Given the description of an element on the screen output the (x, y) to click on. 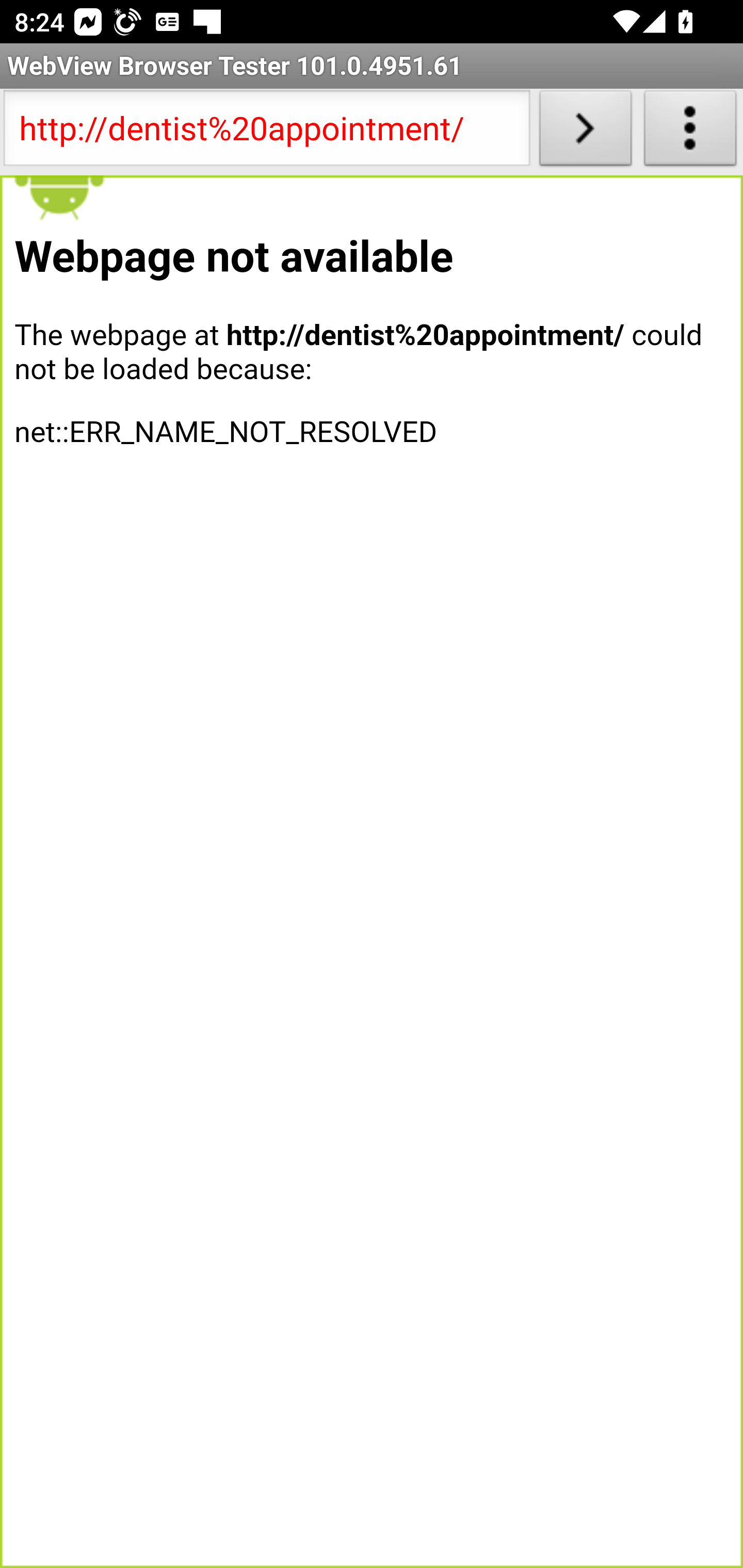
http://dentist%20appointment/ (266, 132)
Load URL (585, 132)
About WebView (690, 132)
